Given the description of an element on the screen output the (x, y) to click on. 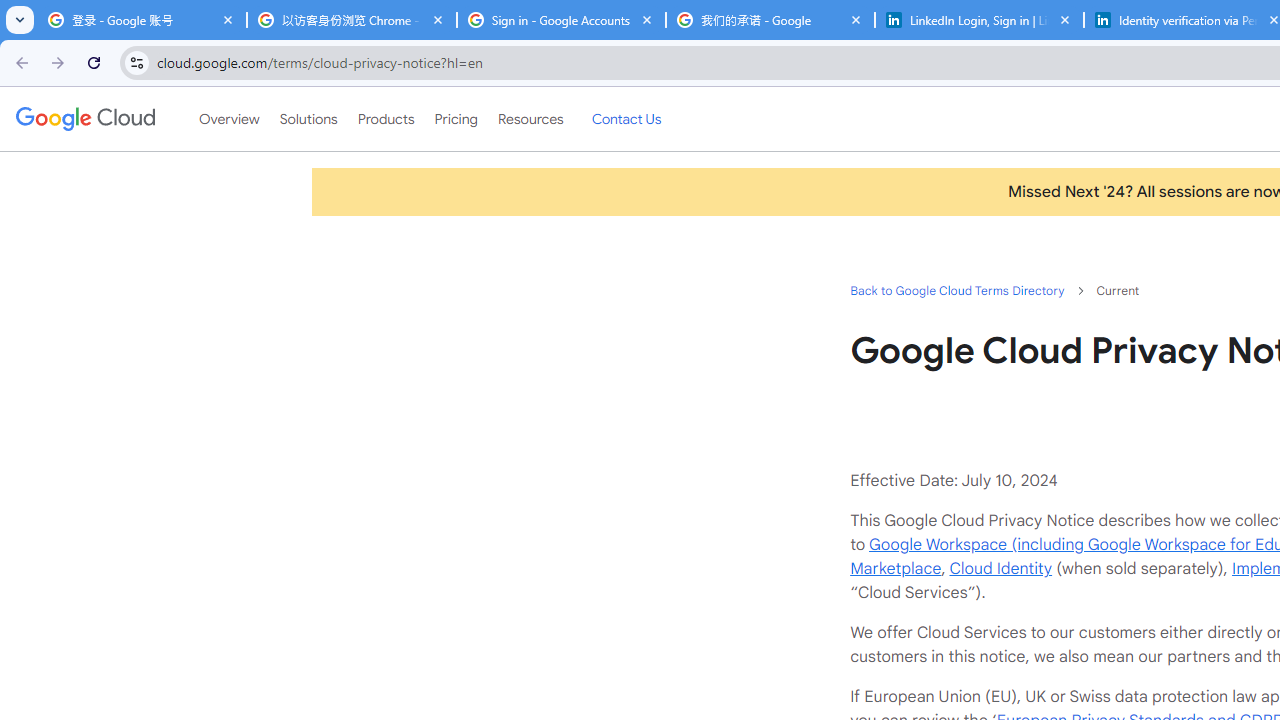
Back to Google Cloud Terms Directory (956, 290)
Products (385, 119)
Sign in - Google Accounts (561, 20)
Resources (530, 119)
LinkedIn Login, Sign in | LinkedIn (979, 20)
